Given the description of an element on the screen output the (x, y) to click on. 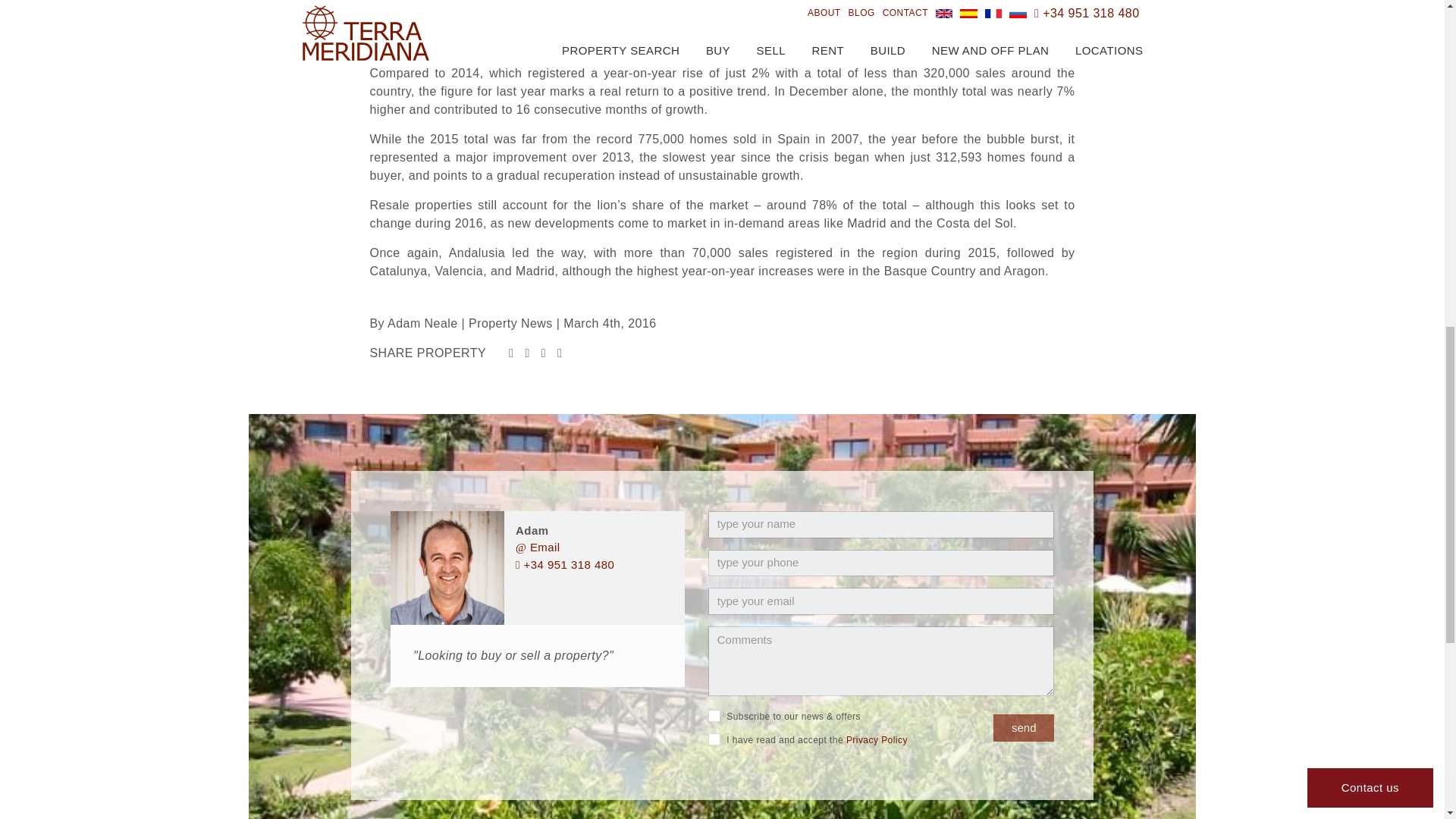
on (713, 739)
on (713, 715)
